Given the description of an element on the screen output the (x, y) to click on. 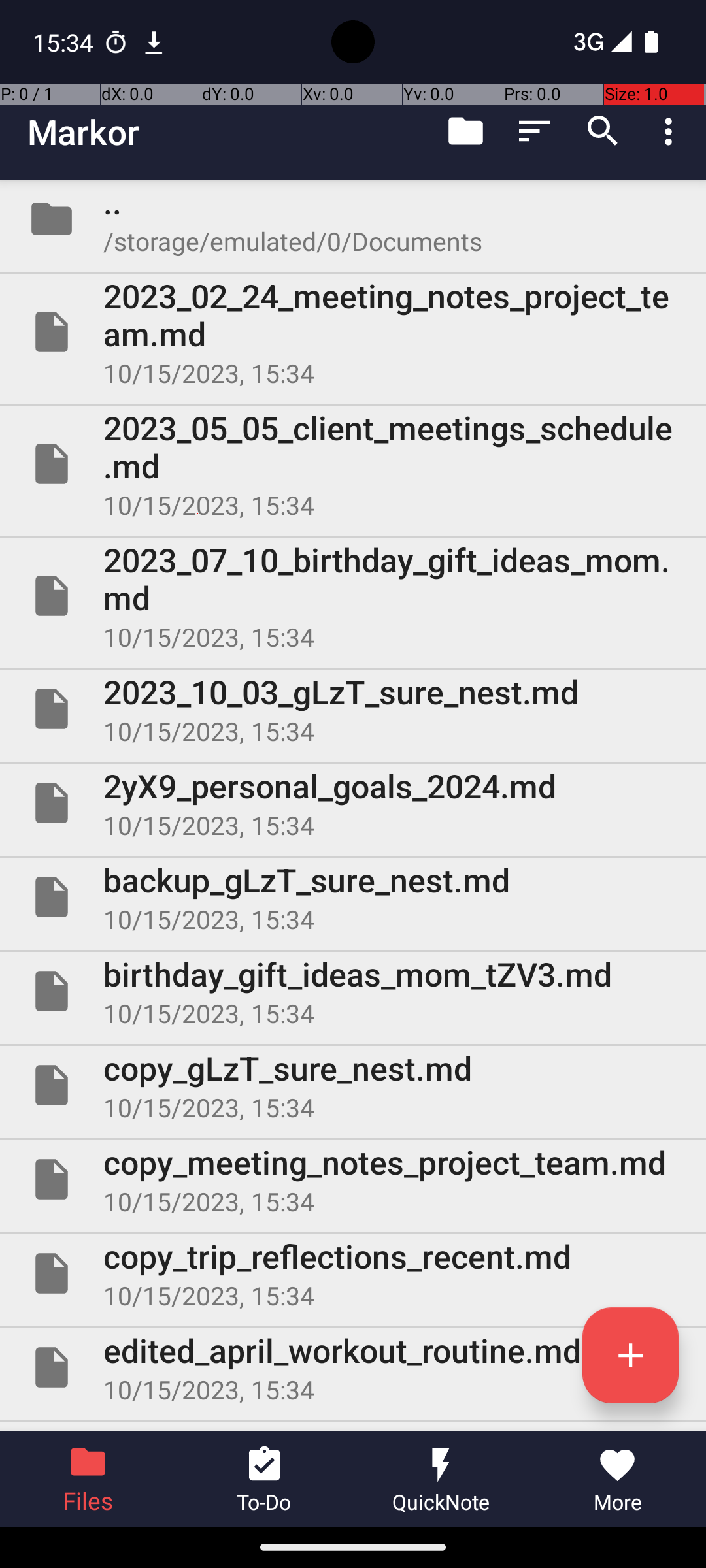
File 2023_02_24_meeting_notes_project_team.md  Element type: android.widget.LinearLayout (353, 331)
File 2023_05_05_client_meetings_schedule.md  Element type: android.widget.LinearLayout (353, 463)
File 2023_07_10_birthday_gift_ideas_mom.md  Element type: android.widget.LinearLayout (353, 595)
File 2023_10_03_gLzT_sure_nest.md  Element type: android.widget.LinearLayout (353, 708)
File 2yX9_personal_goals_2024.md  Element type: android.widget.LinearLayout (353, 802)
File backup_gLzT_sure_nest.md  Element type: android.widget.LinearLayout (353, 896)
File birthday_gift_ideas_mom_tZV3.md  Element type: android.widget.LinearLayout (353, 990)
File copy_gLzT_sure_nest.md  Element type: android.widget.LinearLayout (353, 1084)
File copy_meeting_notes_project_team.md  Element type: android.widget.LinearLayout (353, 1179)
File copy_trip_reflections_recent.md  Element type: android.widget.LinearLayout (353, 1273)
File edited_april_workout_routine.md  Element type: android.widget.LinearLayout (353, 1367)
File edited_gLzT_sure_nest.md  Element type: android.widget.LinearLayout (353, 1426)
